Given the description of an element on the screen output the (x, y) to click on. 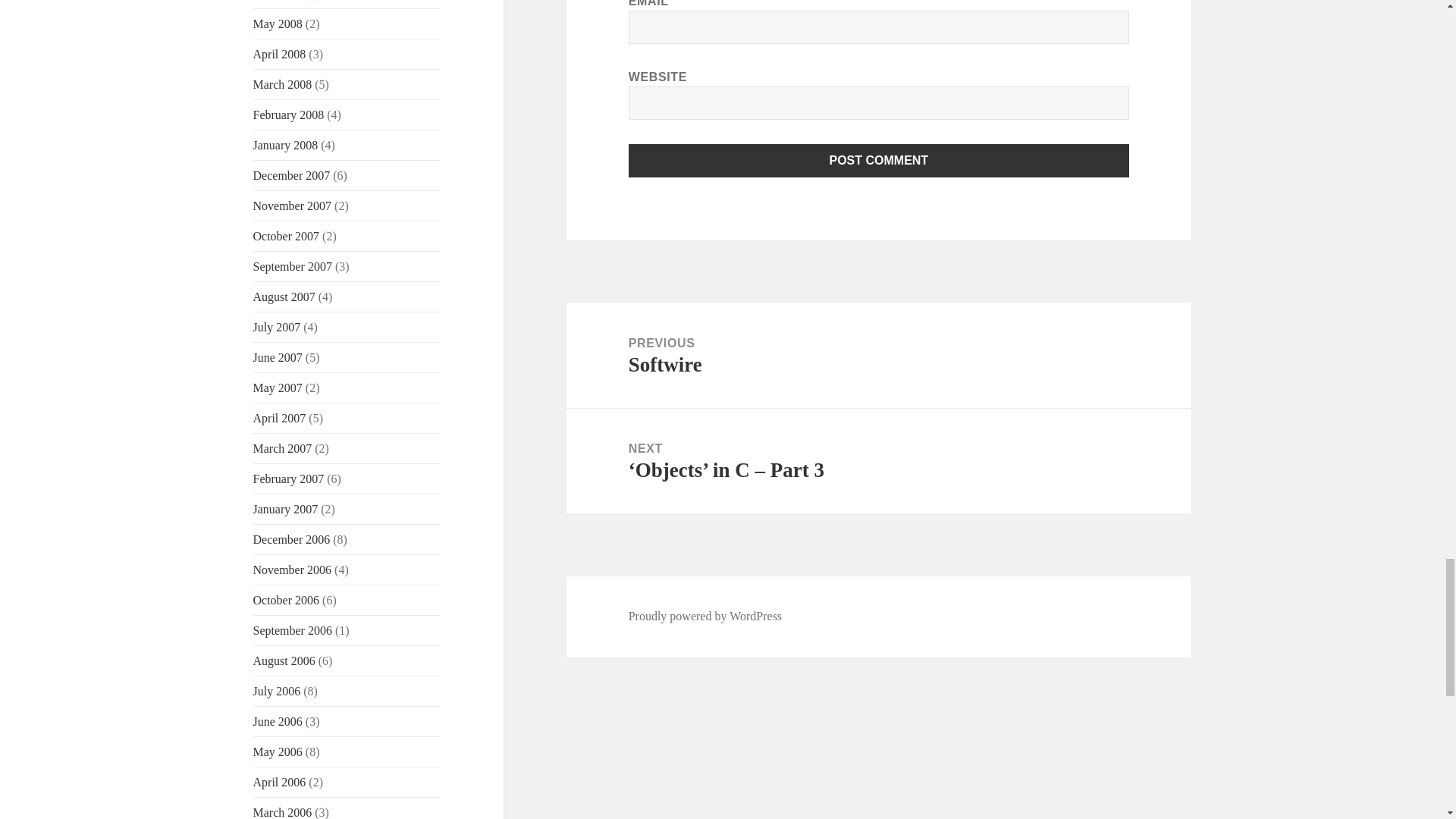
Post Comment (878, 160)
